Given the description of an element on the screen output the (x, y) to click on. 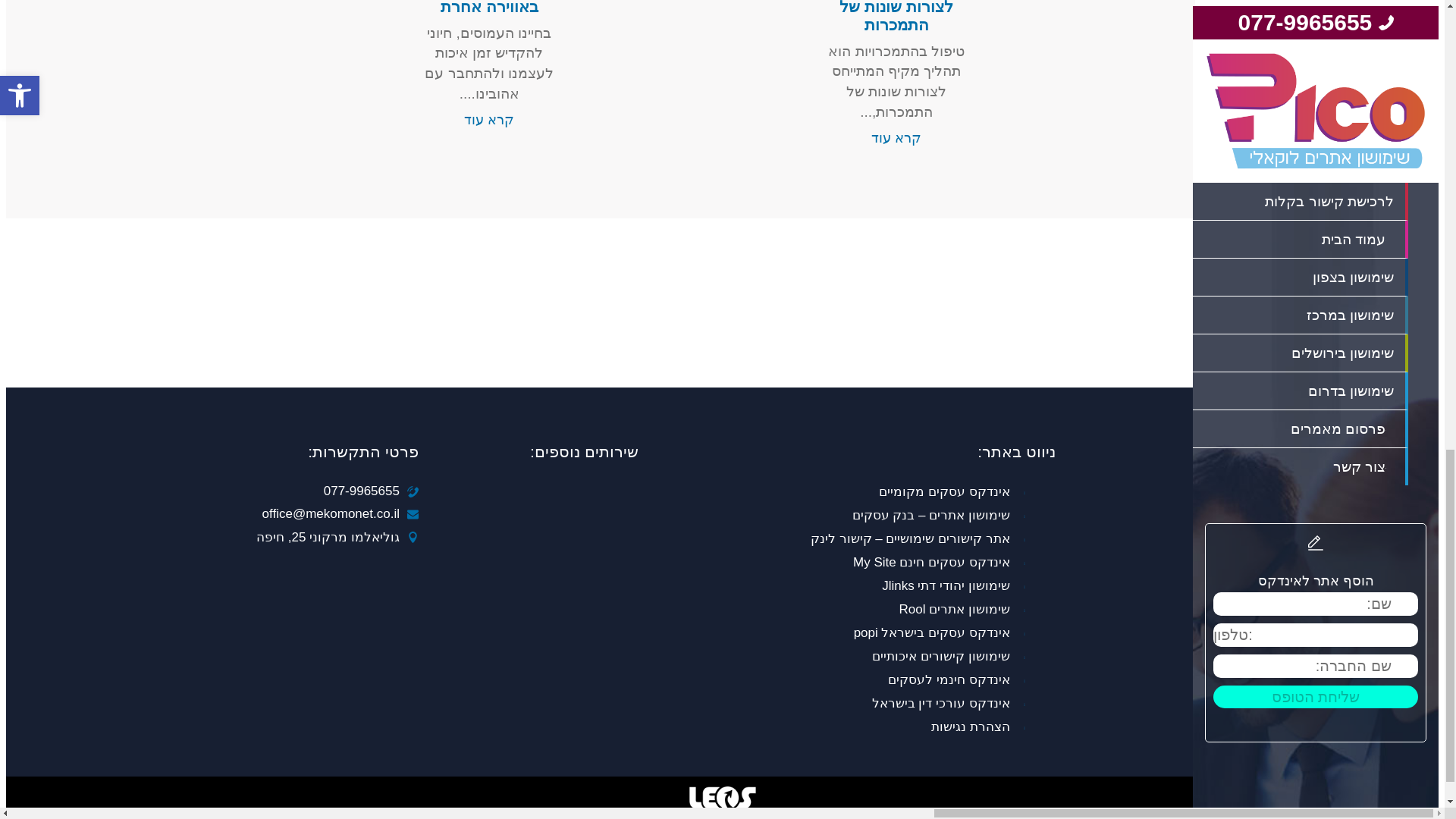
077-9965655 (360, 491)
